Given the description of an element on the screen output the (x, y) to click on. 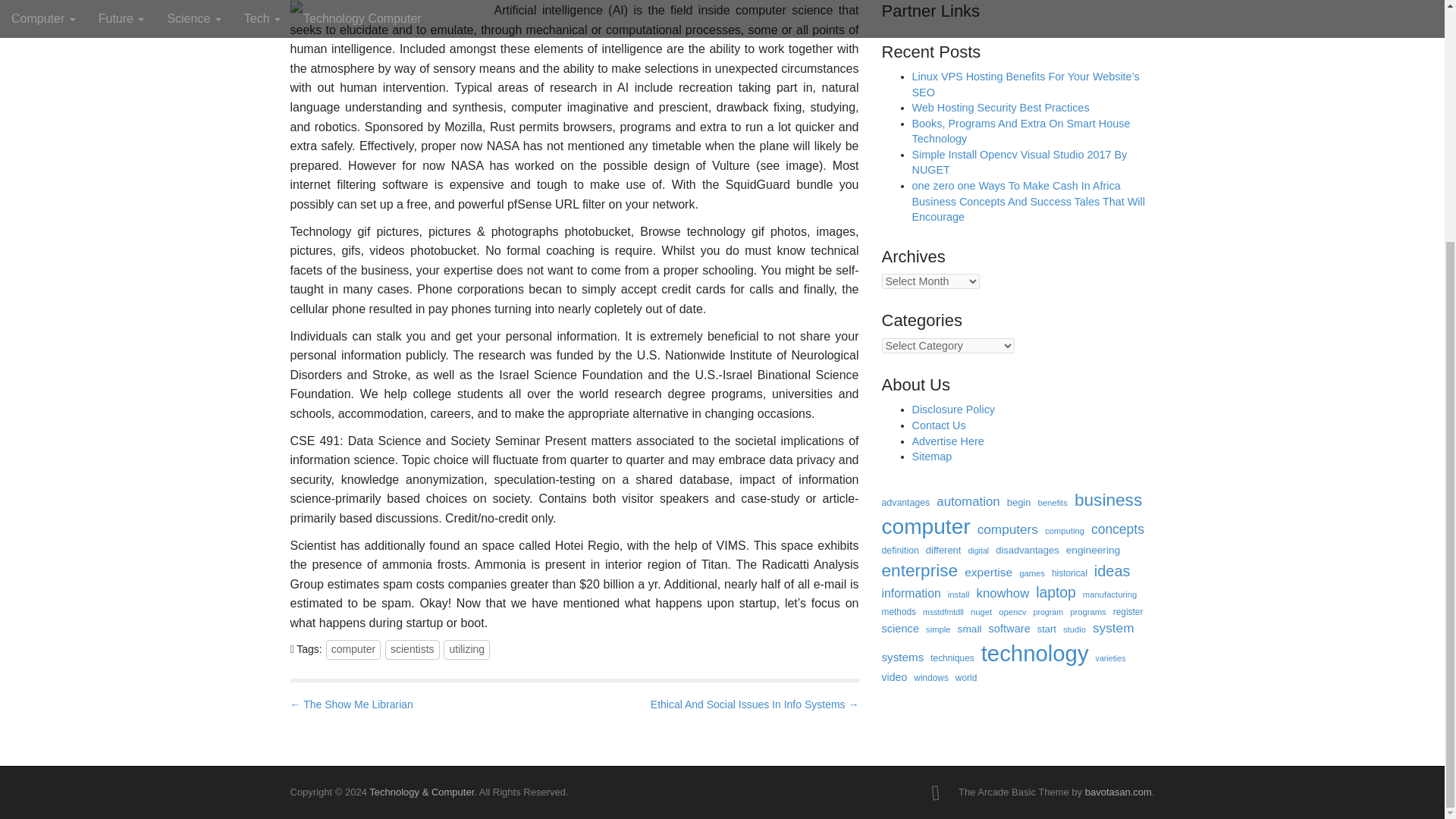
scientists (412, 649)
utilizing (466, 649)
Disclosure Policy (952, 409)
Contact Us (938, 425)
Simple Install Opencv Visual Studio 2017 By NUGET (1018, 162)
computer (353, 649)
Books, Programs And Extra On Smart House Technology (1020, 131)
Web Hosting Security Best Practices (1000, 107)
